Given the description of an element on the screen output the (x, y) to click on. 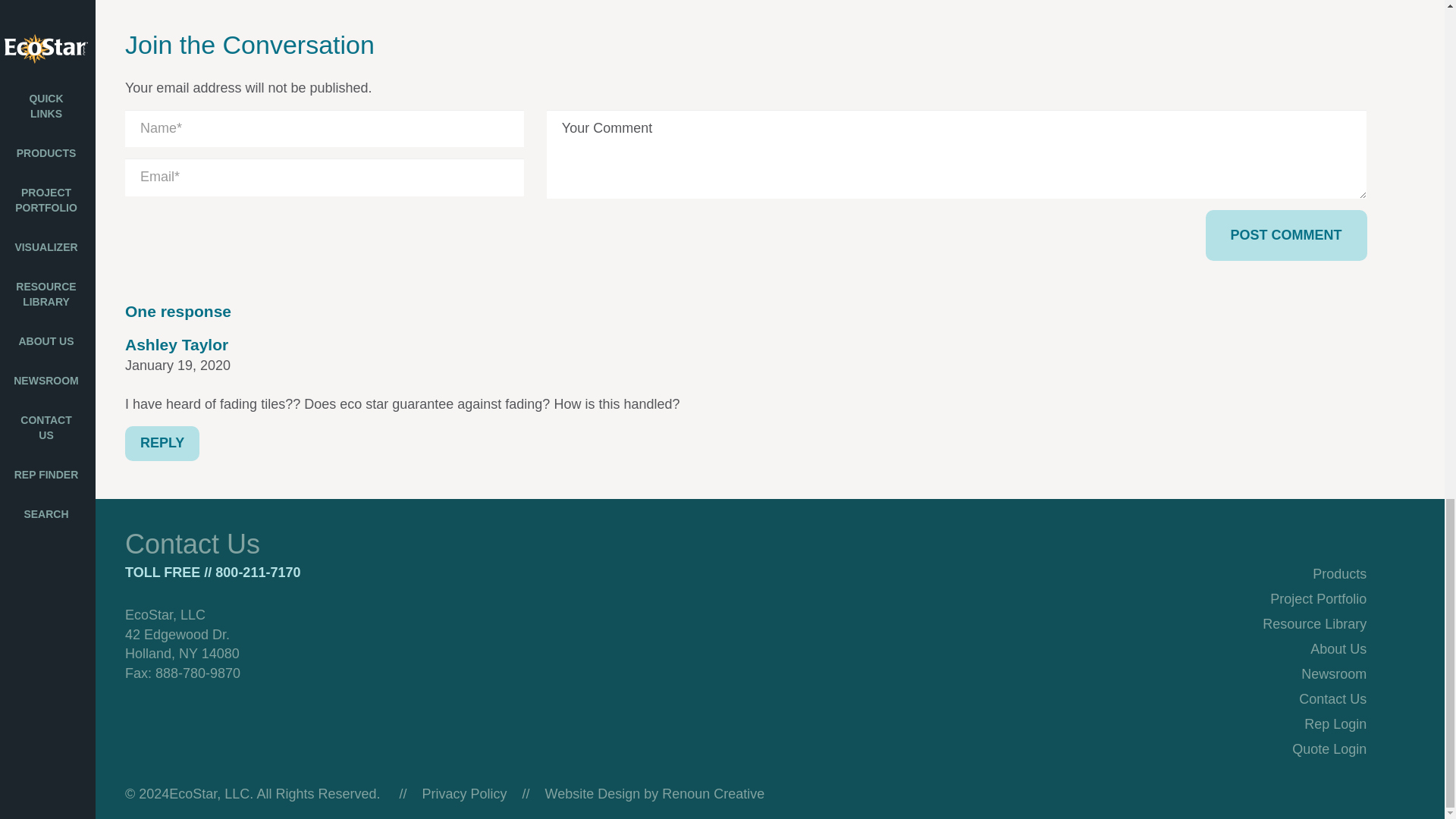
Post Comment (1286, 235)
